Given the description of an element on the screen output the (x, y) to click on. 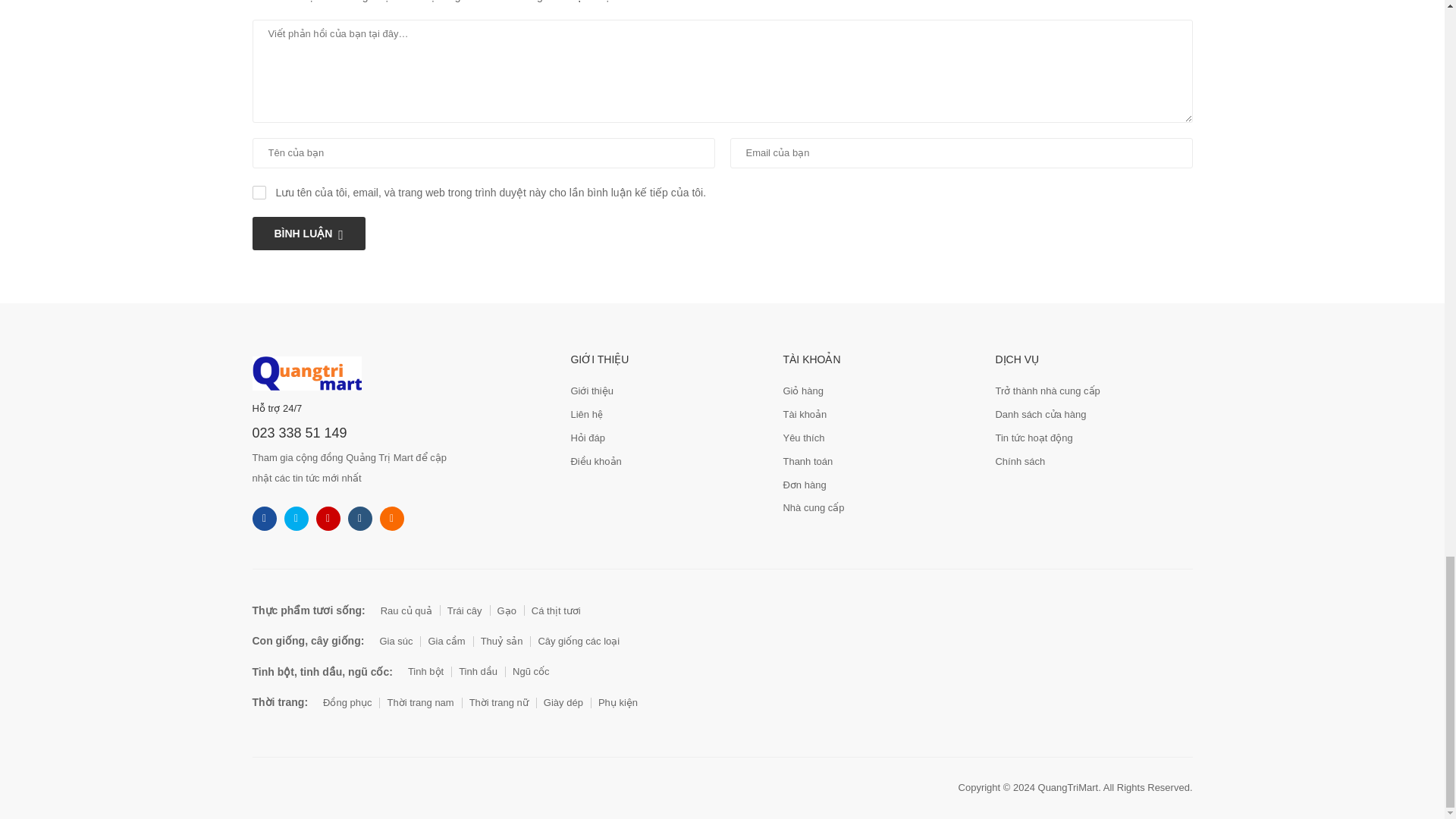
pinterest (390, 518)
youtube (359, 518)
facebook (263, 518)
twitter (295, 518)
yes (257, 192)
instagram (327, 518)
